Given the description of an element on the screen output the (x, y) to click on. 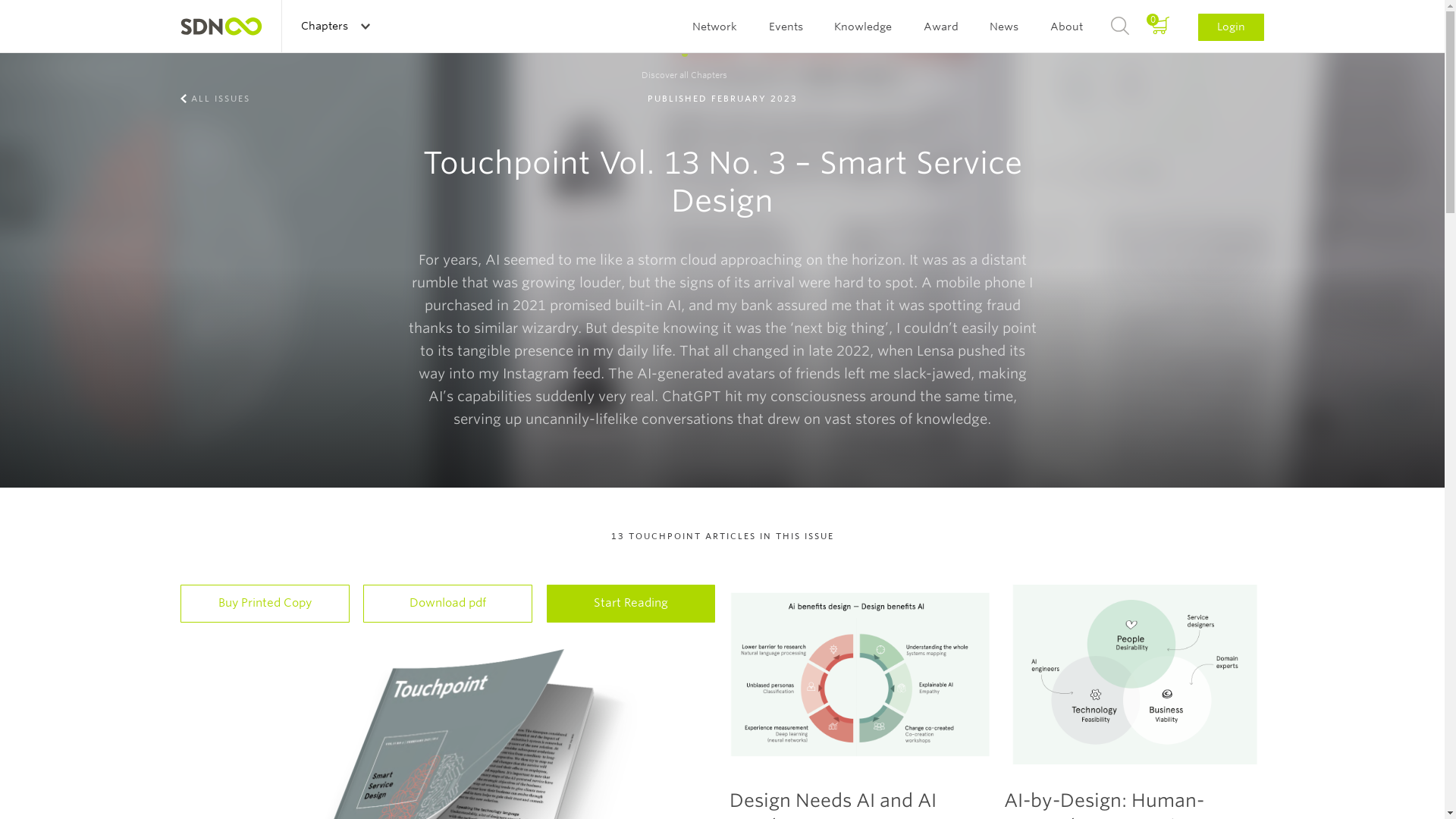
Chapters (334, 26)
